Given the description of an element on the screen output the (x, y) to click on. 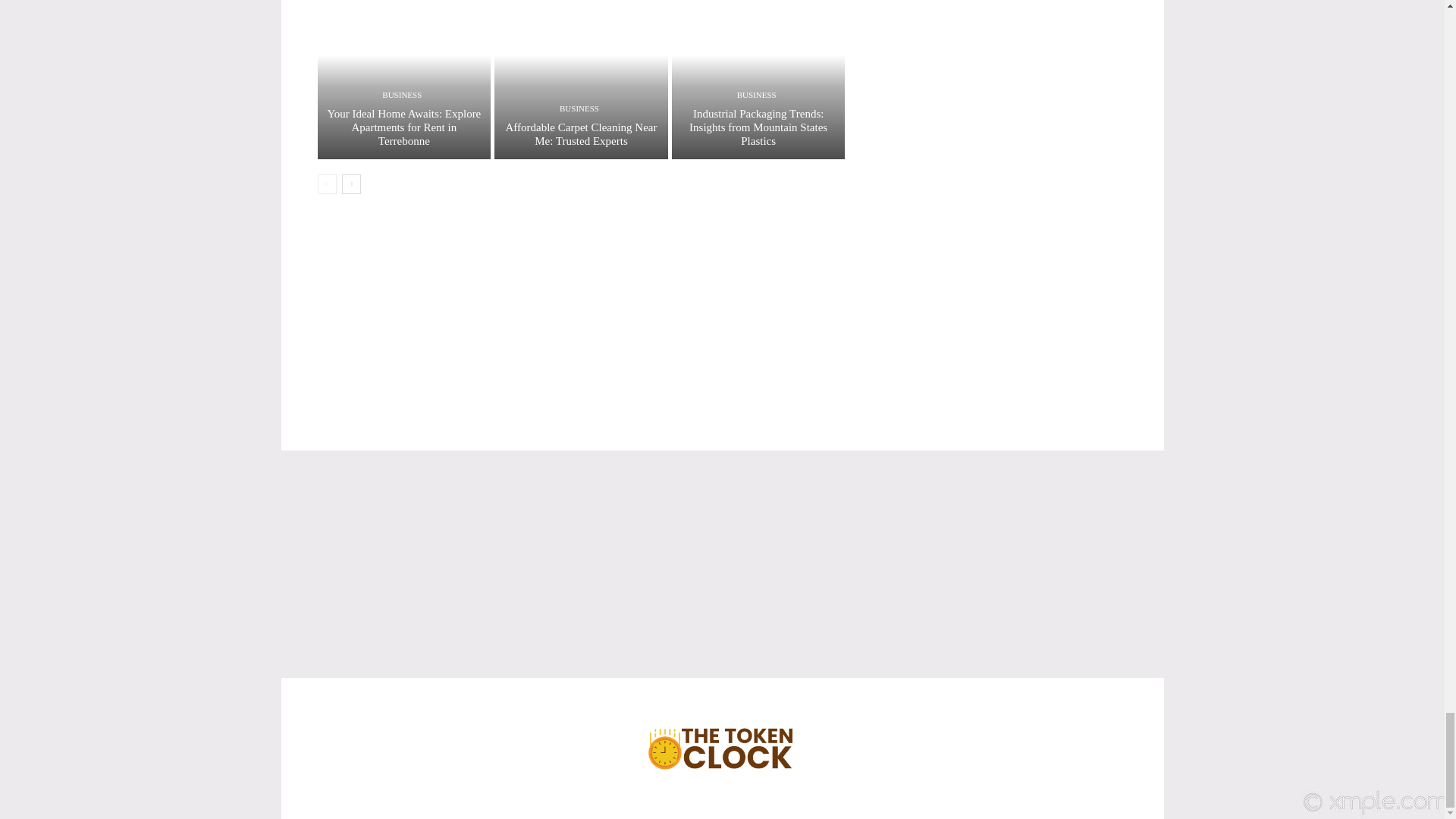
Affordable Carpet Cleaning Near Me: Trusted Experts (580, 134)
Affordable Carpet Cleaning Near Me: Trusted Experts (581, 79)
